Given the description of an element on the screen output the (x, y) to click on. 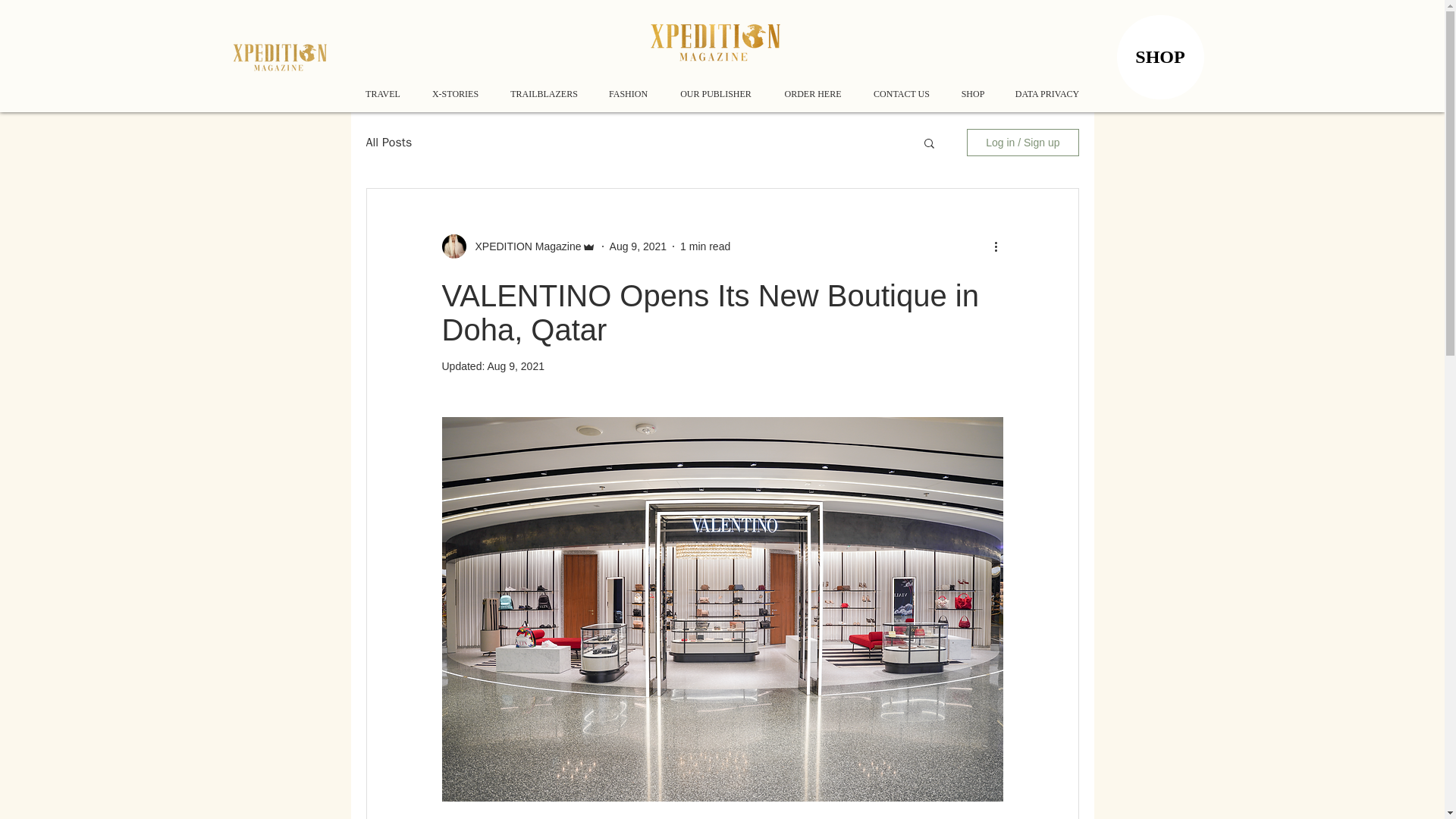
SHOP (972, 94)
SHOP (1160, 57)
TRAVEL (382, 94)
X-STORIES (455, 94)
DATA PRIVACY (1047, 94)
TRAILBLAZERS (544, 94)
1 min read (704, 245)
Aug 9, 2021 (515, 366)
XPEDITION Magazine (522, 245)
Aug 9, 2021 (638, 245)
